Given the description of an element on the screen output the (x, y) to click on. 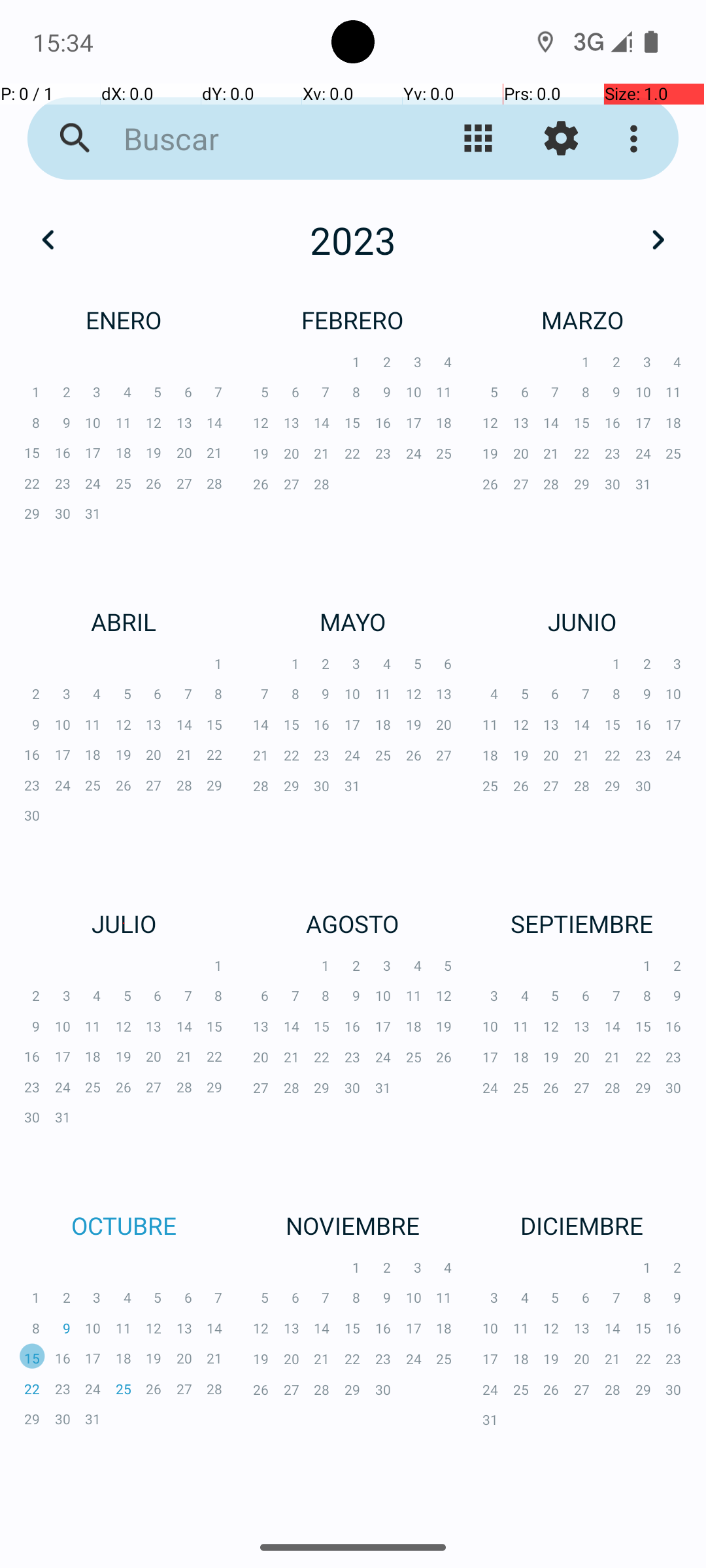
Buscar Element type: android.widget.EditText (252, 138)
Cambiar vista Element type: android.widget.Button (477, 138)
Ajustes Element type: android.widget.Button (560, 138)
Más opciones Element type: android.widget.ImageView (636, 138)
ENERO Element type: android.widget.TextView (123, 319)
FEBRERO Element type: android.widget.TextView (352, 319)
MARZO Element type: android.widget.TextView (582, 319)
ABRIL Element type: android.widget.TextView (123, 621)
MAYO Element type: android.widget.TextView (352, 621)
JUNIO Element type: android.widget.TextView (582, 621)
JULIO Element type: android.widget.TextView (123, 923)
AGOSTO Element type: android.widget.TextView (352, 923)
SEPTIEMBRE Element type: android.widget.TextView (582, 923)
OCTUBRE Element type: android.widget.TextView (123, 1224)
NOVIEMBRE Element type: android.widget.TextView (352, 1224)
DICIEMBRE Element type: android.widget.TextView (582, 1224)
